Given the description of an element on the screen output the (x, y) to click on. 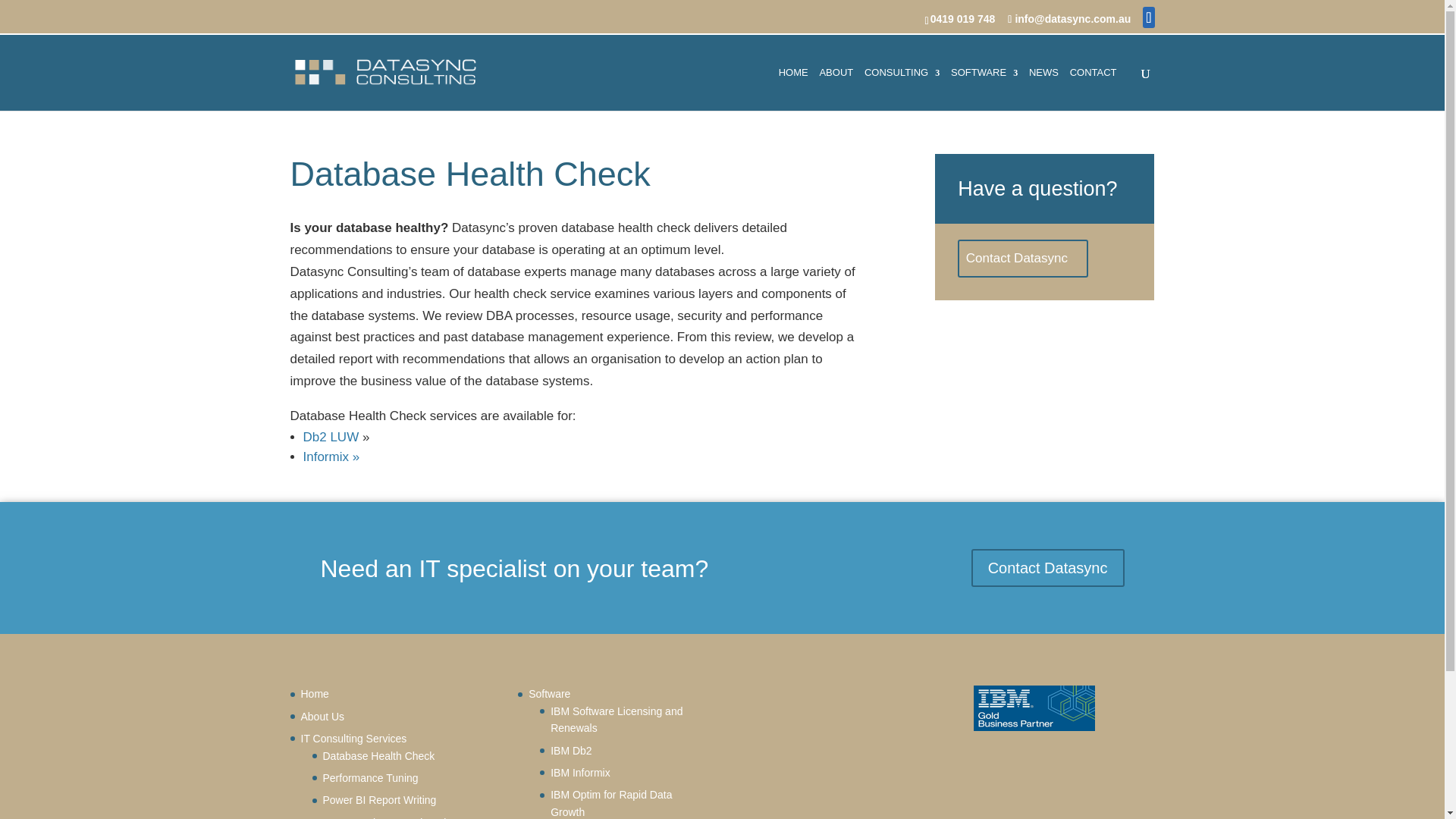
CONSULTING (901, 87)
Datasync Consulting (314, 693)
Informix Health Check (330, 456)
CONTACT (1093, 87)
ibm premier business partner (1034, 708)
SOFTWARE (983, 87)
0419 019 748 (962, 18)
